Given the description of an element on the screen output the (x, y) to click on. 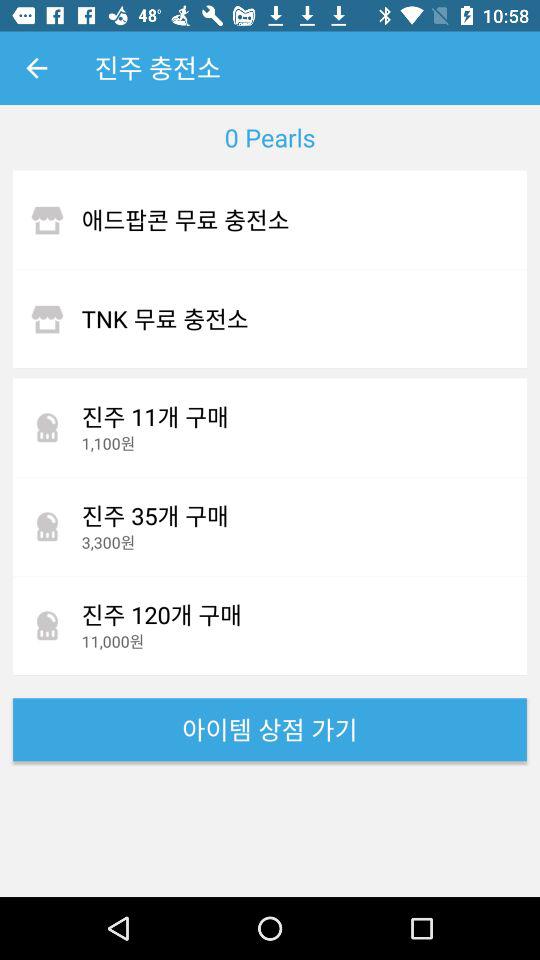
tap icon above the 0 pearls (36, 68)
